Given the description of an element on the screen output the (x, y) to click on. 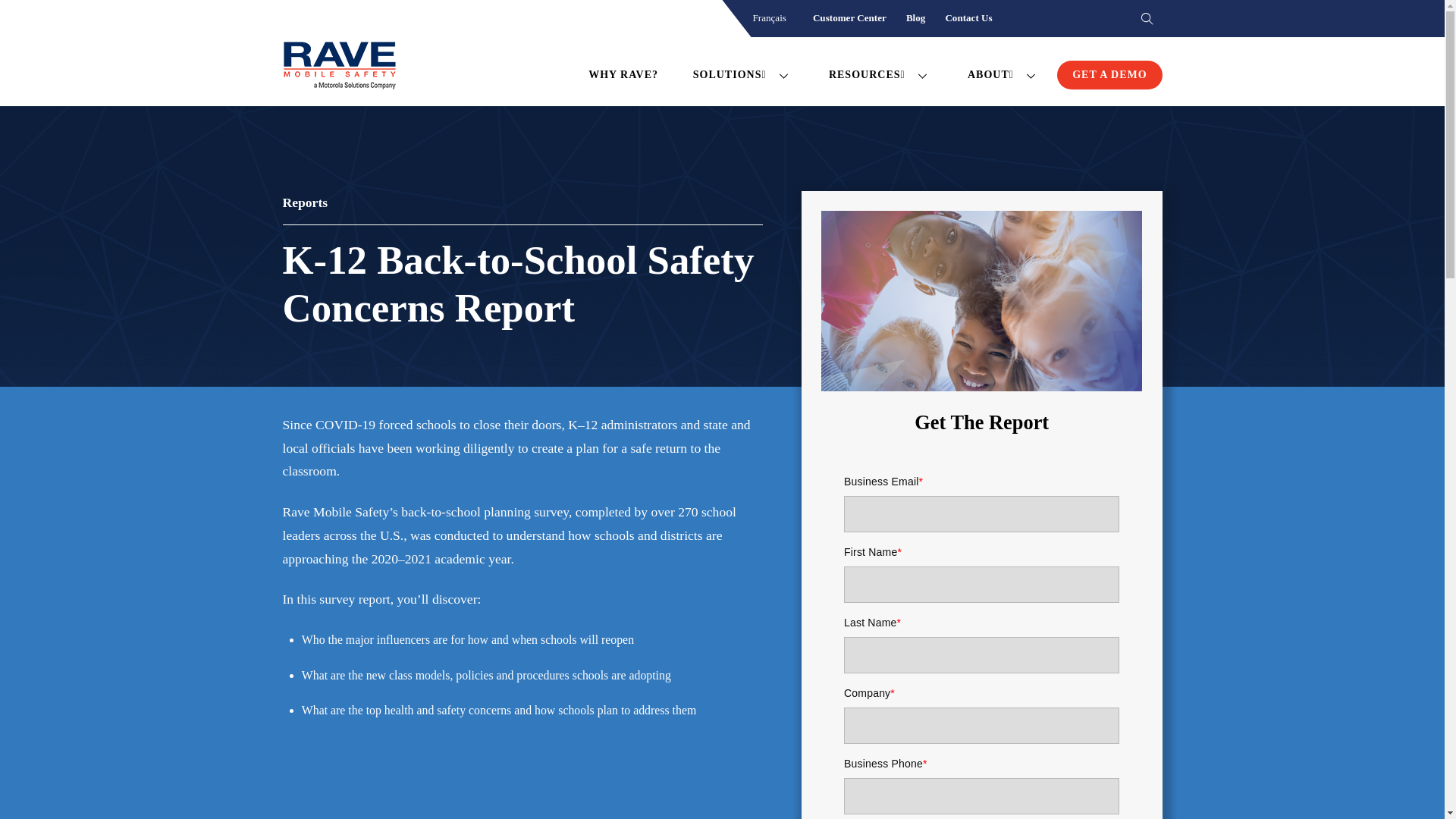
Search (1141, 19)
Blog (916, 17)
WHY RAVE? (623, 74)
Contact Us (967, 17)
Rave-Logo-MSI-150 (339, 64)
Customer Center (849, 17)
Rave Mobile Safety (339, 71)
RESOURCES (880, 74)
SOLUTIONS (795, 70)
